Given the description of an element on the screen output the (x, y) to click on. 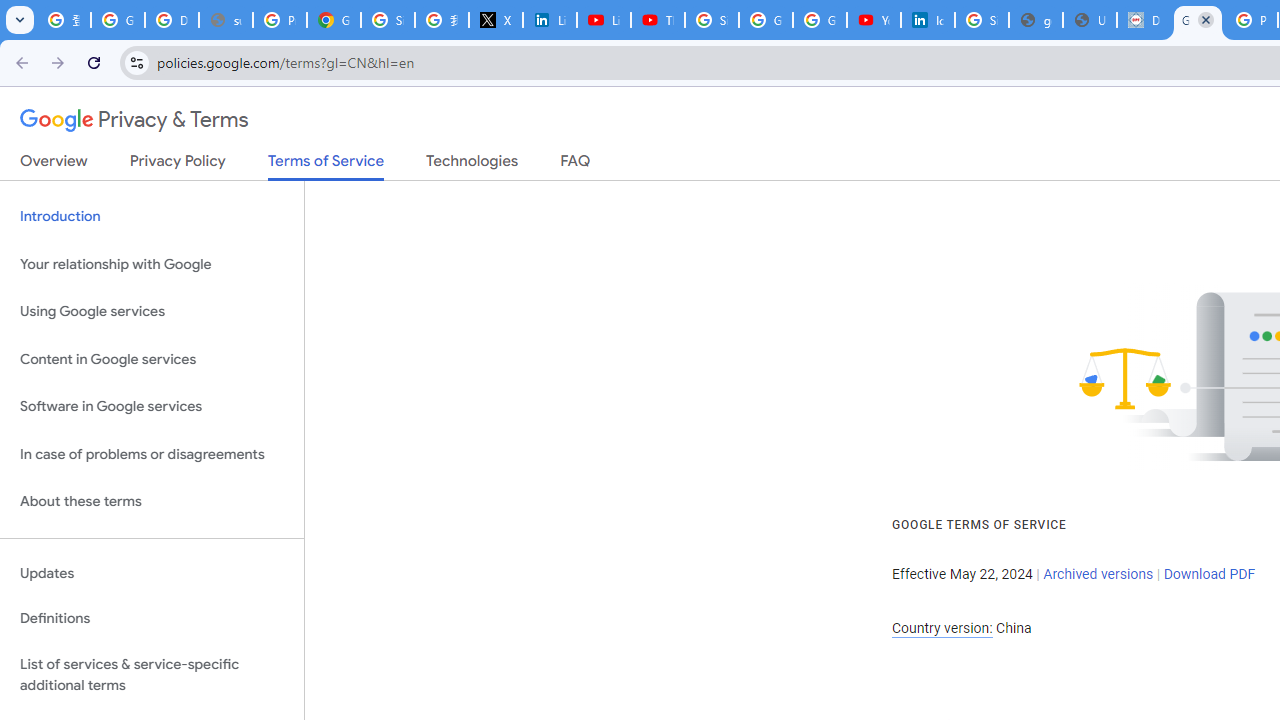
LinkedIn - YouTube (604, 20)
Introduction (152, 216)
About these terms (152, 502)
Sign in - Google Accounts (981, 20)
Privacy Help Center - Policies Help (280, 20)
Country version: (942, 628)
Content in Google services (152, 358)
User Details (1089, 20)
